Given the description of an element on the screen output the (x, y) to click on. 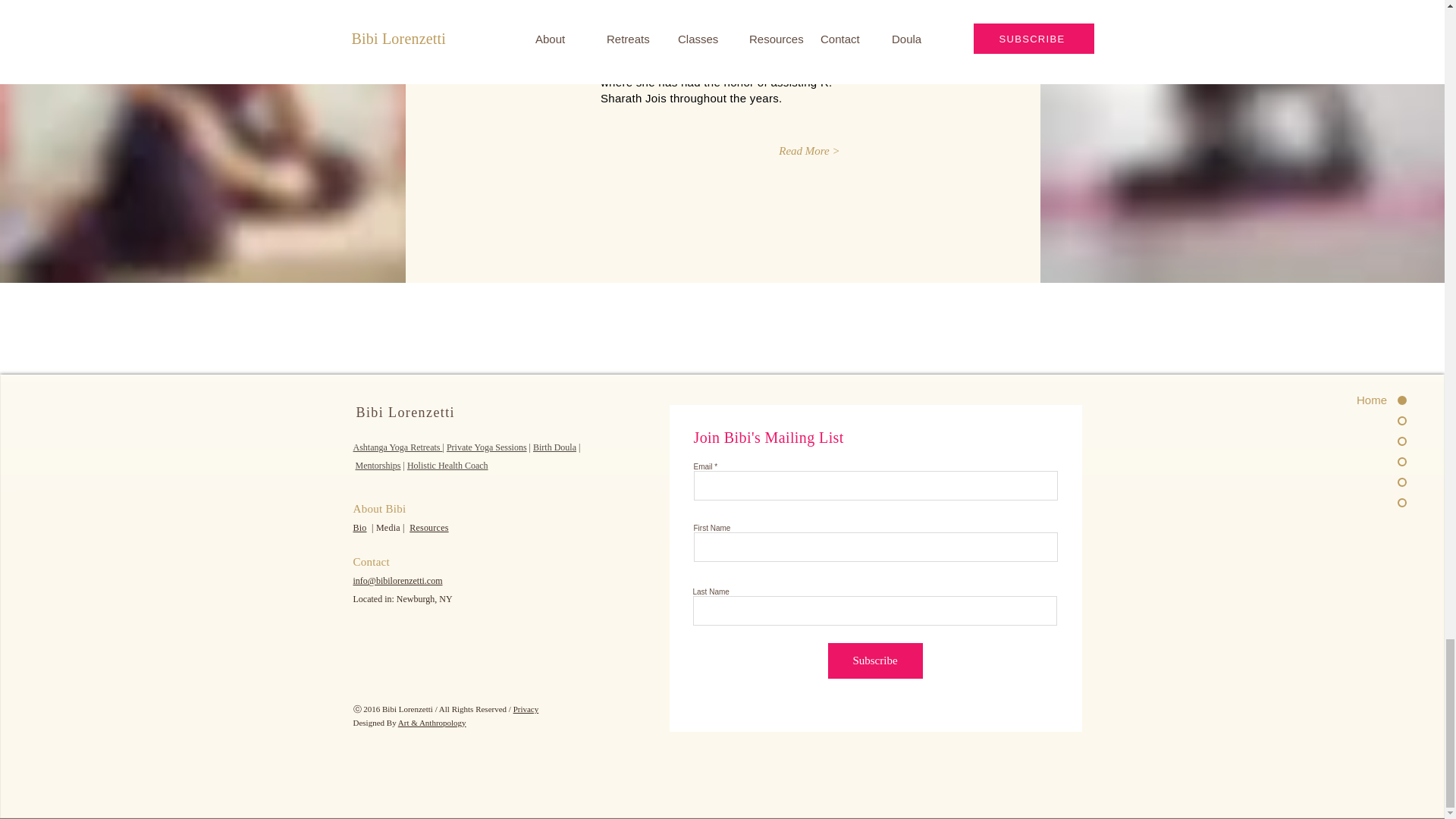
Resources (428, 527)
Bio (359, 527)
Newburgh Yoga Shala. S (679, 18)
Holistic Health Coach (447, 465)
Private Yoga Sessions (486, 447)
Birth Doula (554, 447)
Ashtanga Yoga Retreats (397, 447)
Mentorships (377, 465)
